Given the description of an element on the screen output the (x, y) to click on. 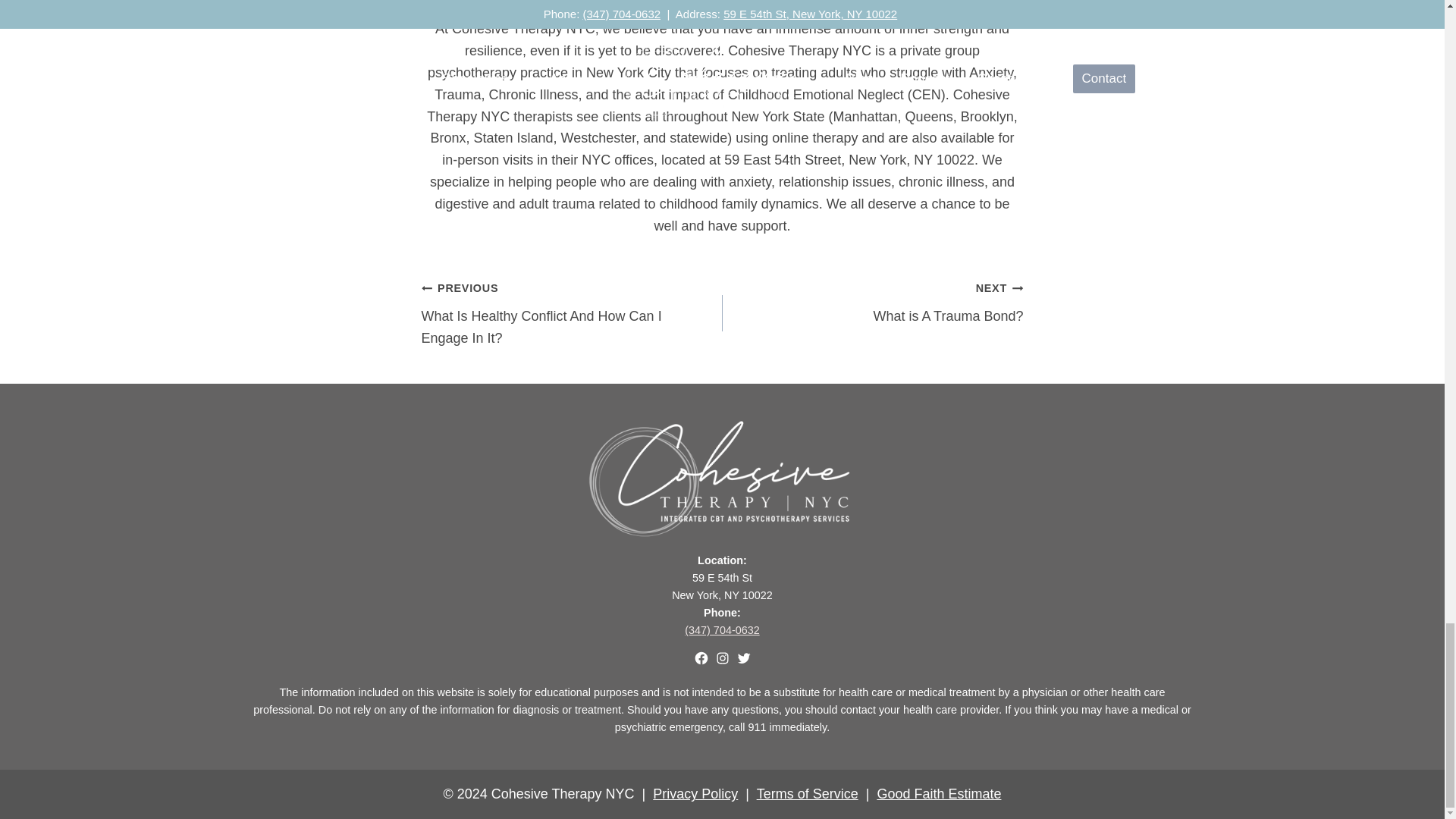
facebook link (700, 657)
Privacy Policy (695, 793)
Terms of Service (808, 793)
Good Faith Estimate (872, 301)
Instagram (722, 586)
Twitter (938, 793)
